Given the description of an element on the screen output the (x, y) to click on. 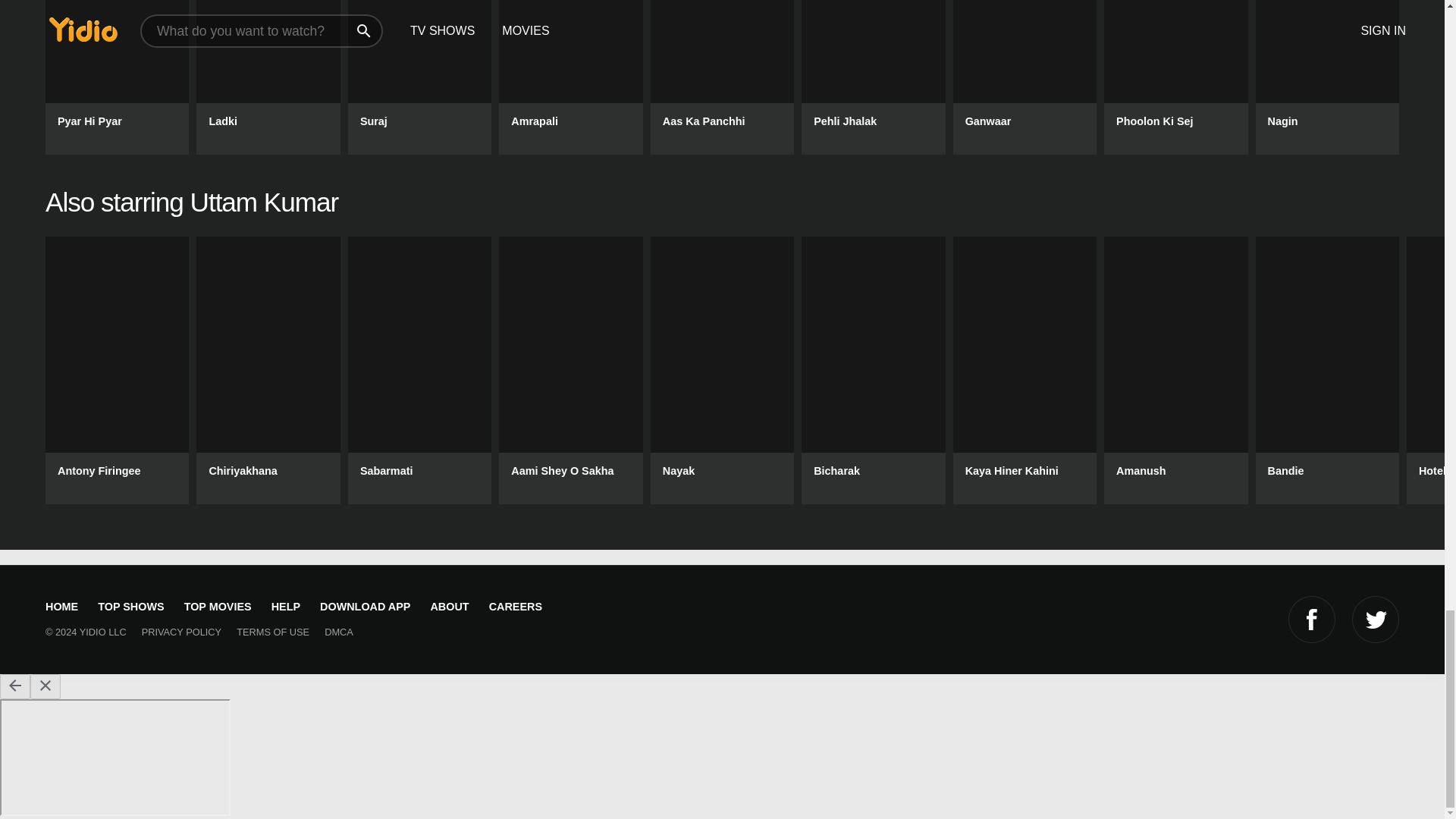
Twitter (1375, 619)
Facebook (1311, 619)
